Given the description of an element on the screen output the (x, y) to click on. 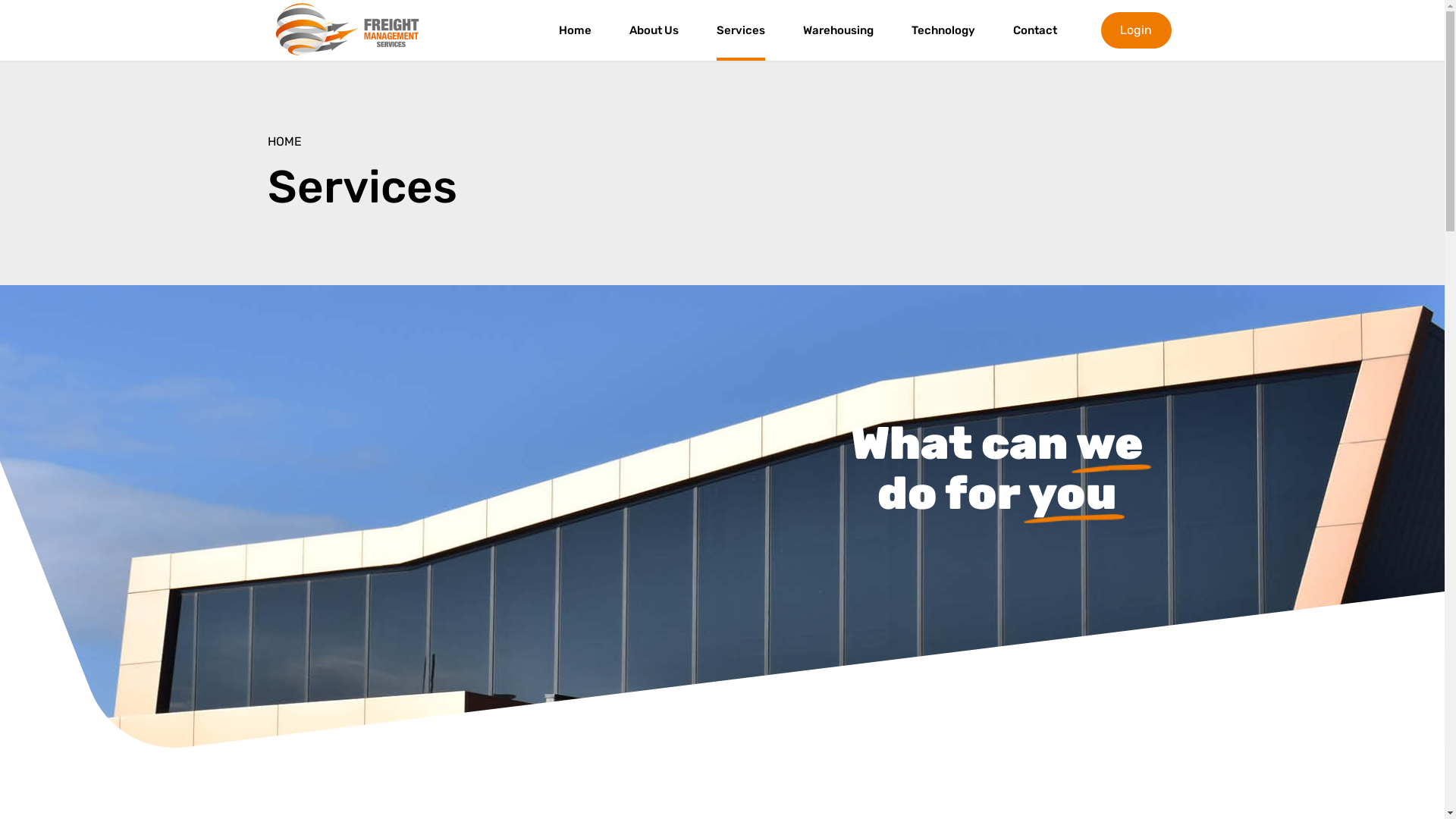
Home Element type: text (574, 30)
Login Element type: text (1136, 30)
About Us Element type: text (653, 30)
HOME Element type: text (283, 141)
Services Element type: text (740, 30)
Warehousing Element type: text (838, 30)
Contact Element type: text (1035, 30)
Technology Element type: text (943, 30)
